Given the description of an element on the screen output the (x, y) to click on. 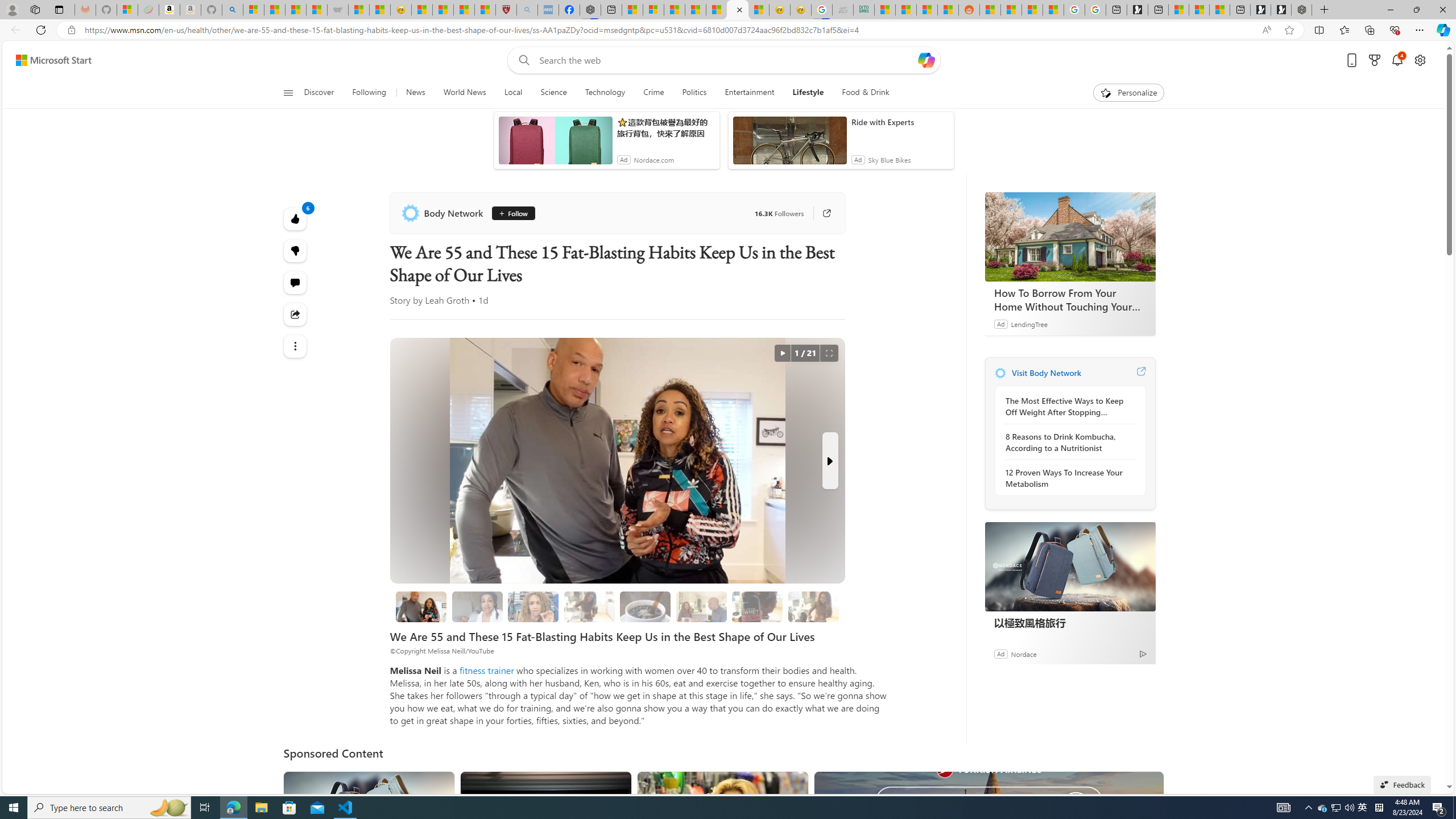
Follow (512, 213)
8 Reasons to Drink Kombucha, According to a Nutritionist (1066, 441)
6 (295, 250)
1 We Eat a Protein-Packed Pre-Workout Snack (476, 606)
2 They Use Protein Powder for Flavor (533, 606)
